Given the description of an element on the screen output the (x, y) to click on. 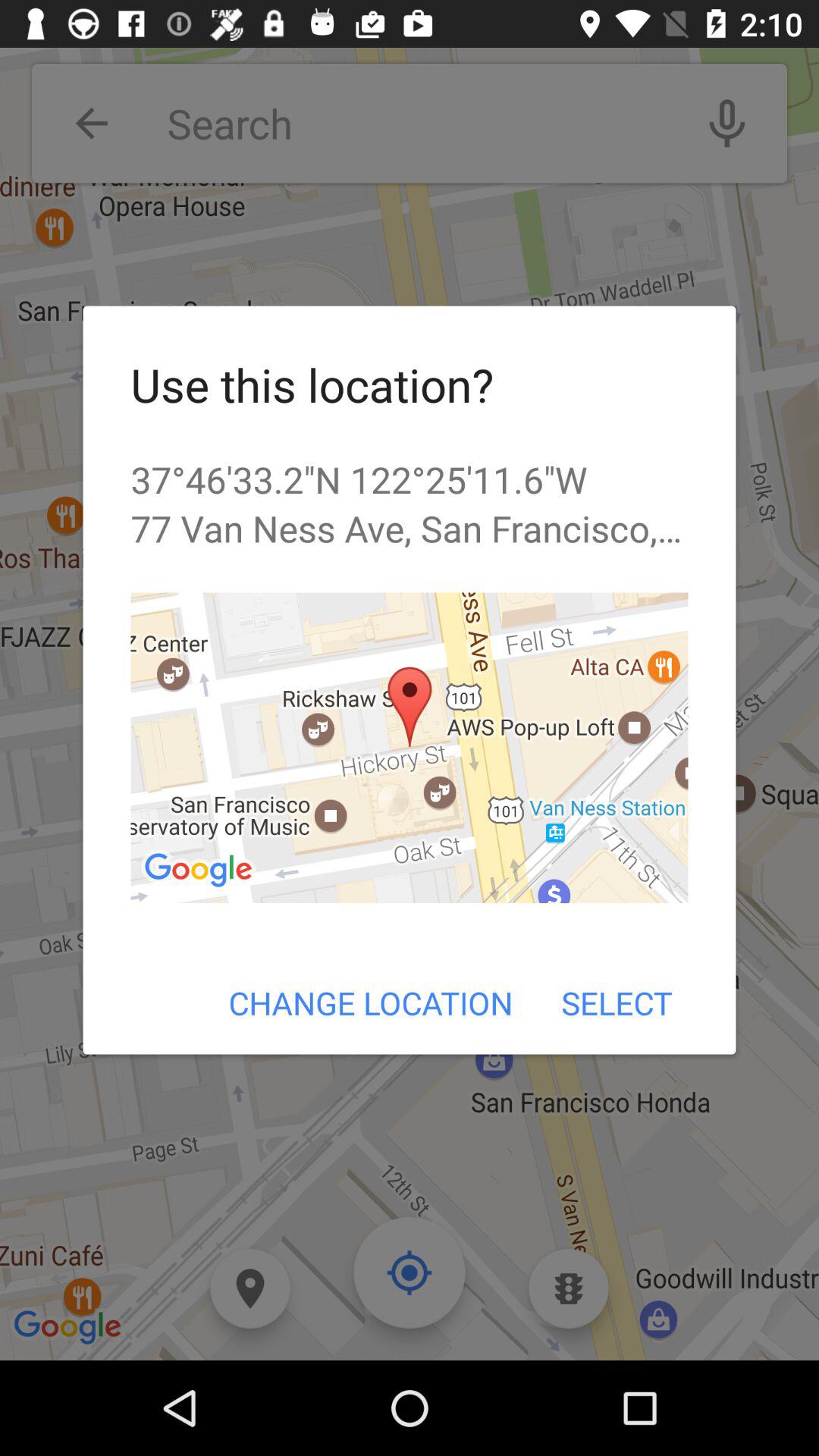
launch the icon at the bottom right corner (616, 1002)
